Given the description of an element on the screen output the (x, y) to click on. 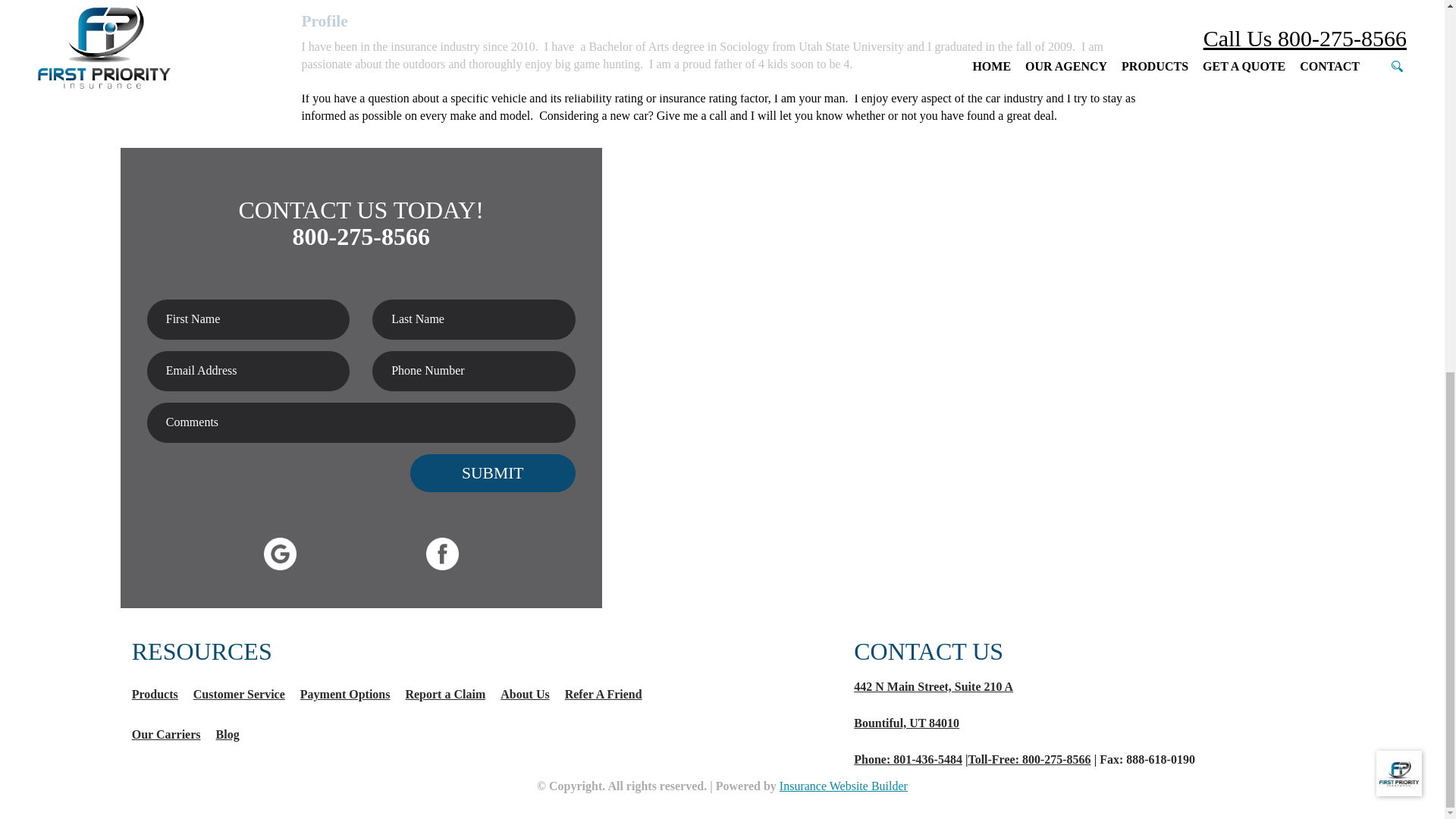
Kustomer Widget Iframe (1398, 94)
Insurance Website Builder (842, 785)
